Given the description of an element on the screen output the (x, y) to click on. 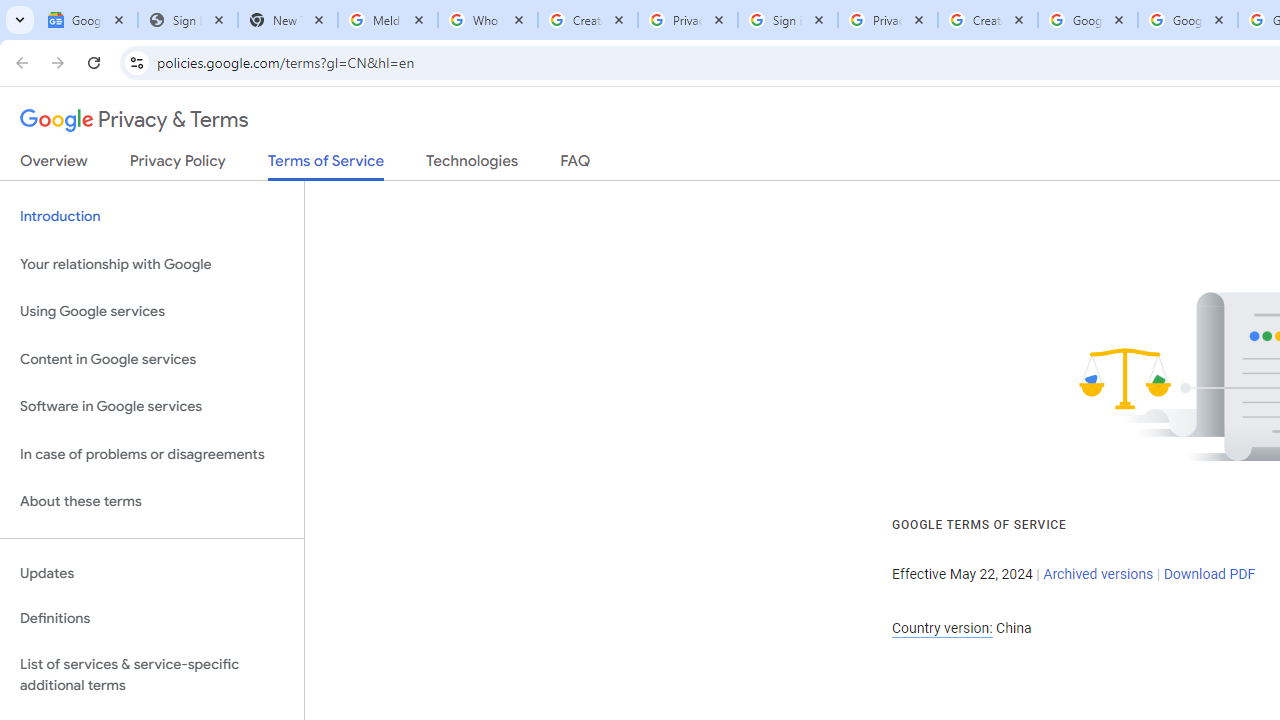
Create your Google Account (587, 20)
Content in Google services (152, 358)
Software in Google services (152, 407)
In case of problems or disagreements (152, 453)
